Given the description of an element on the screen output the (x, y) to click on. 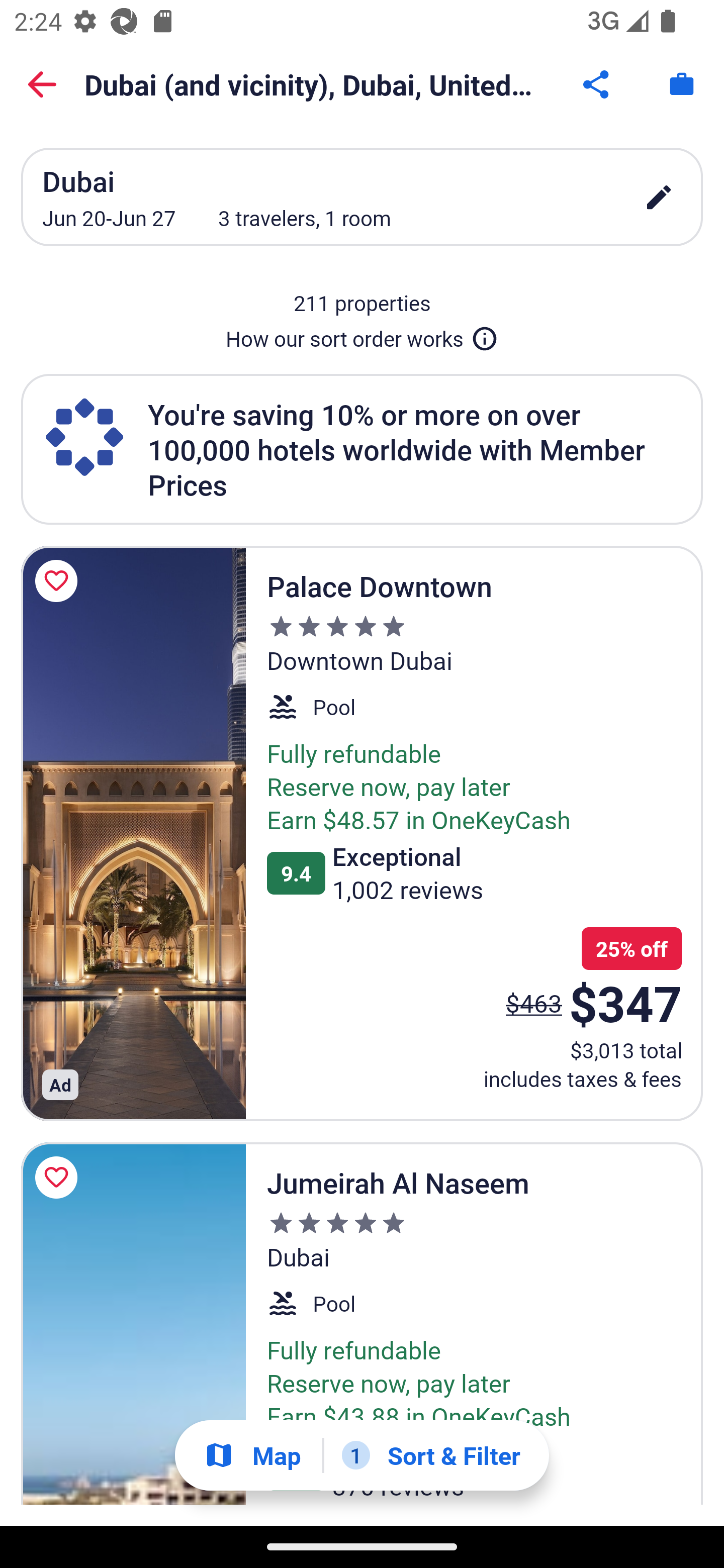
Back (42, 84)
Share Button (597, 84)
Trips. Button (681, 84)
Dubai Jun 20-Jun 27 3 travelers, 1 room edit (361, 196)
How our sort order works (361, 334)
Save Palace Downtown to a trip (59, 580)
Palace Downtown (133, 833)
$463 The price was $463 (533, 1003)
Save Jumeirah Al Naseem to a trip (59, 1177)
Jumeirah Al Naseem (133, 1324)
1 Sort & Filter 1 Filter applied. Filters Button (430, 1455)
Show map Map Show map Button (252, 1455)
